Given the description of an element on the screen output the (x, y) to click on. 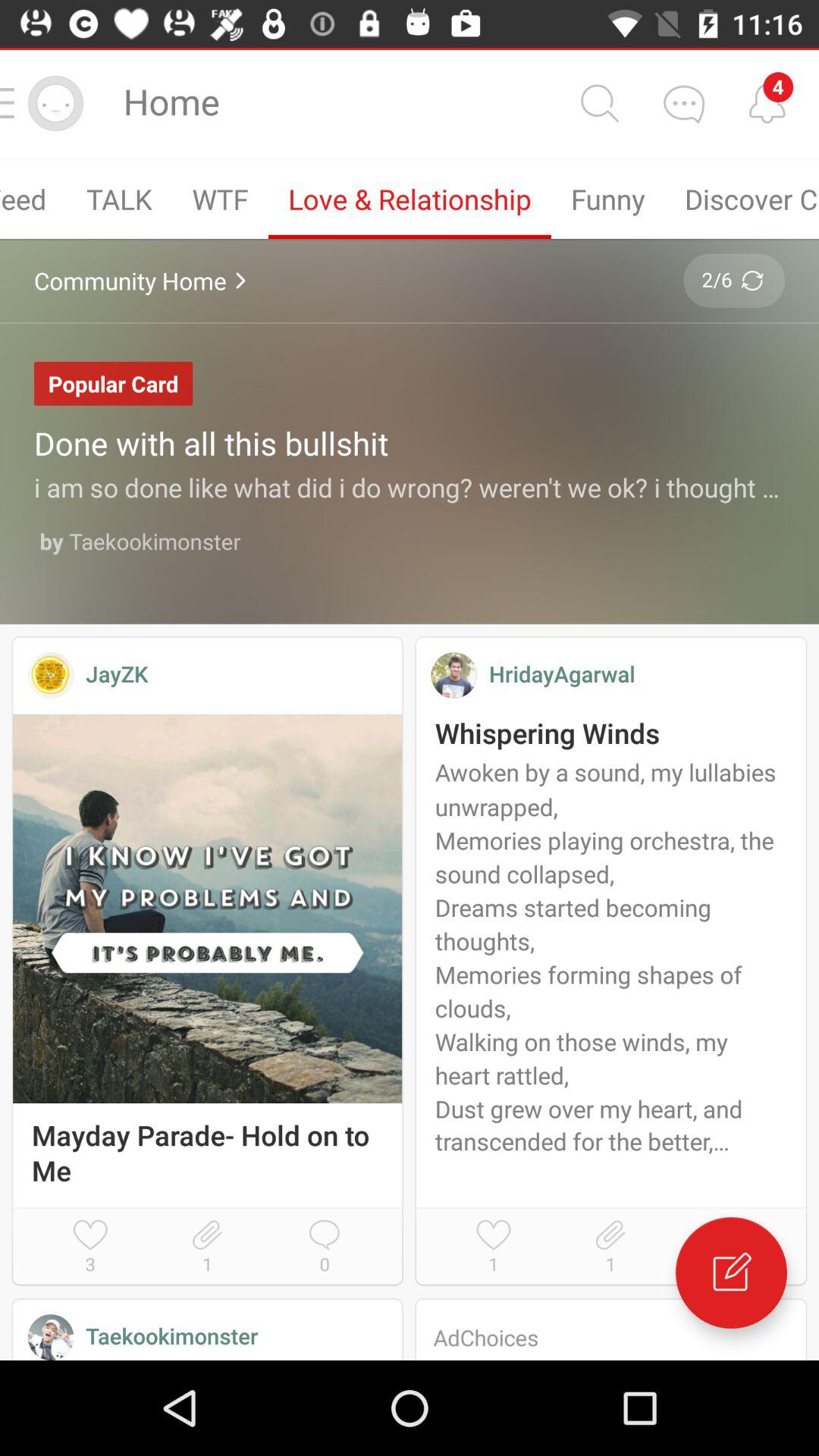
write post (731, 1272)
